Given the description of an element on the screen output the (x, y) to click on. 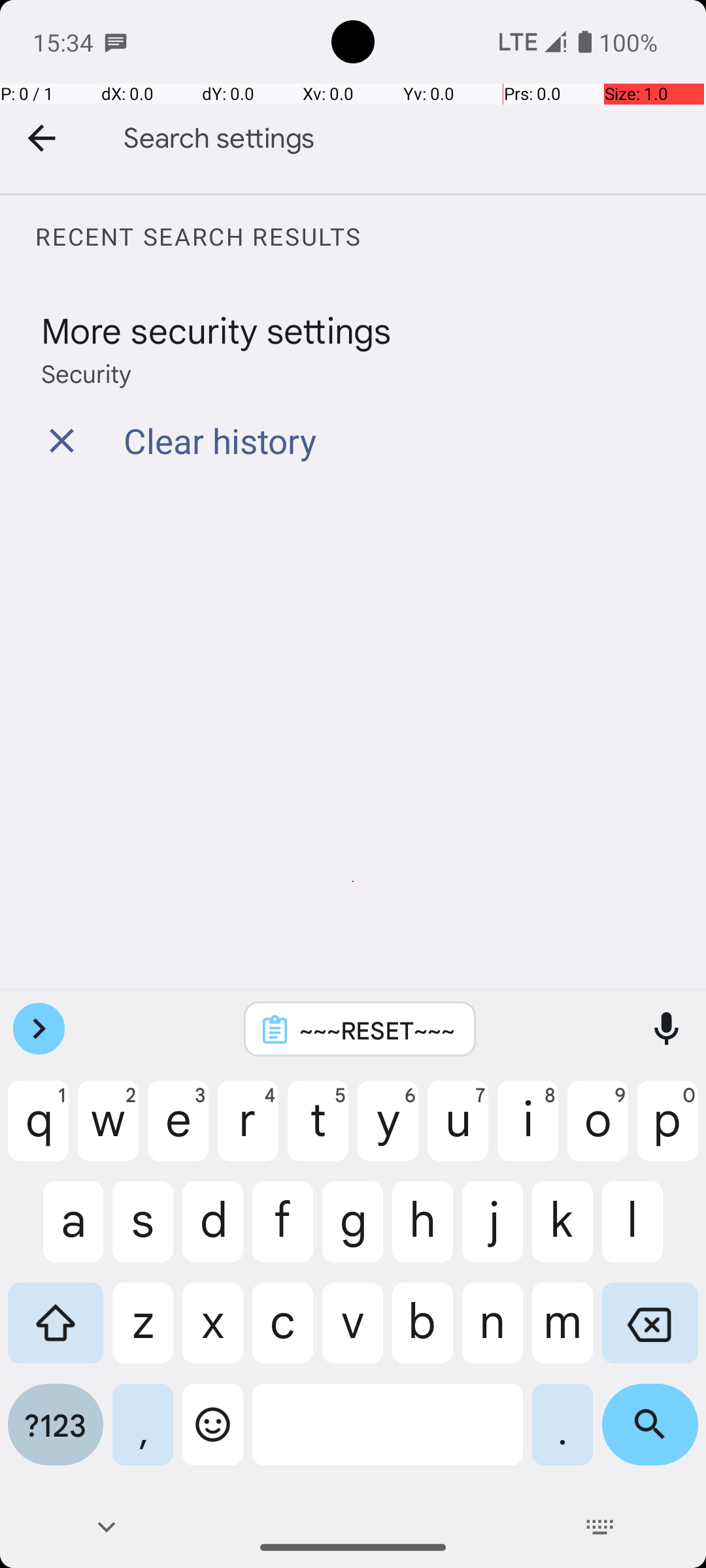
RECENT SEARCH RESULTS Element type: android.widget.TextView (370, 236)
More security settings Element type: android.widget.TextView (216, 329)
Security Element type: android.widget.TextView (86, 372)
Clear history Element type: android.widget.TextView (219, 440)
